Given the description of an element on the screen output the (x, y) to click on. 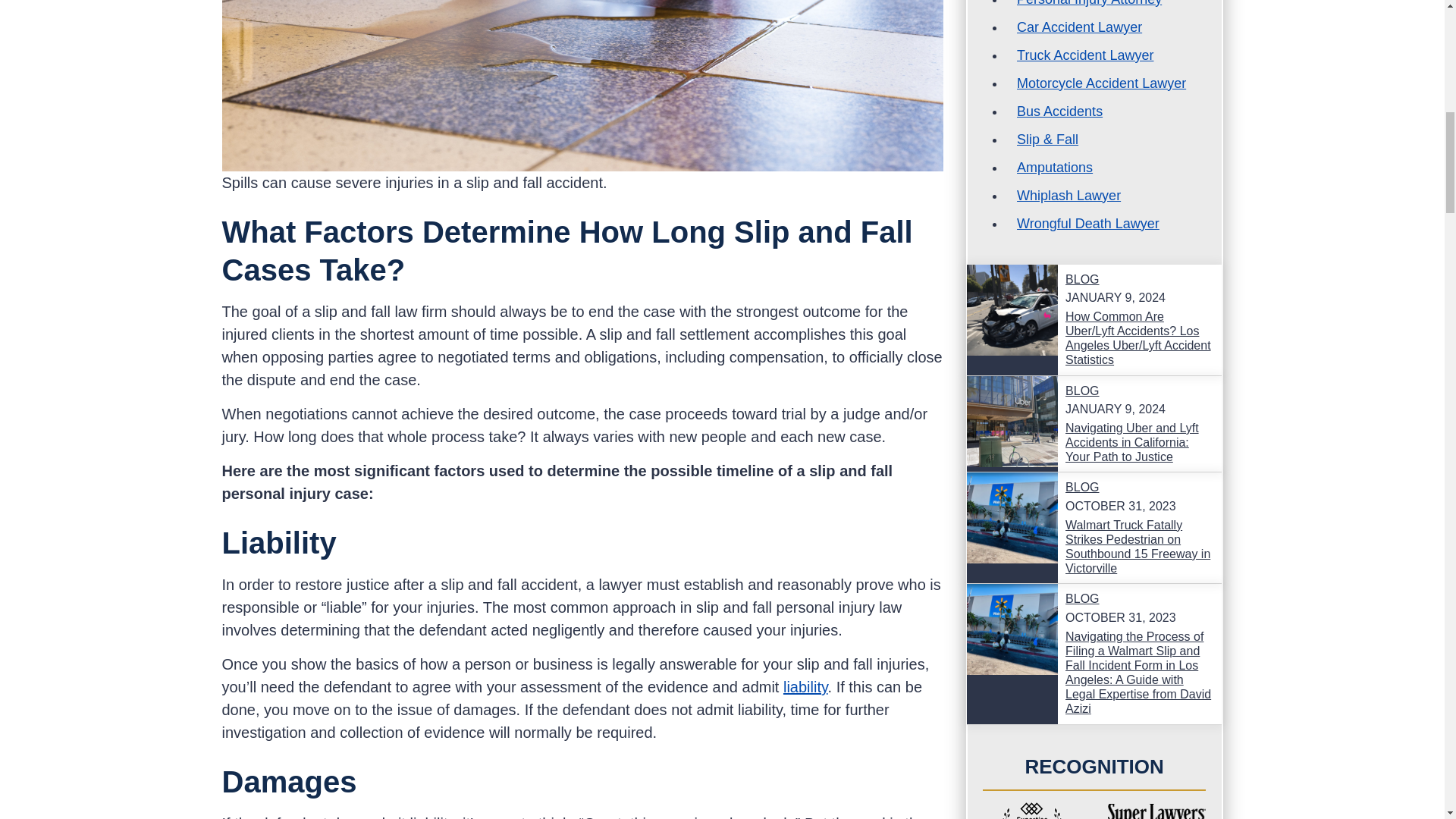
liability (805, 686)
